Given the description of an element on the screen output the (x, y) to click on. 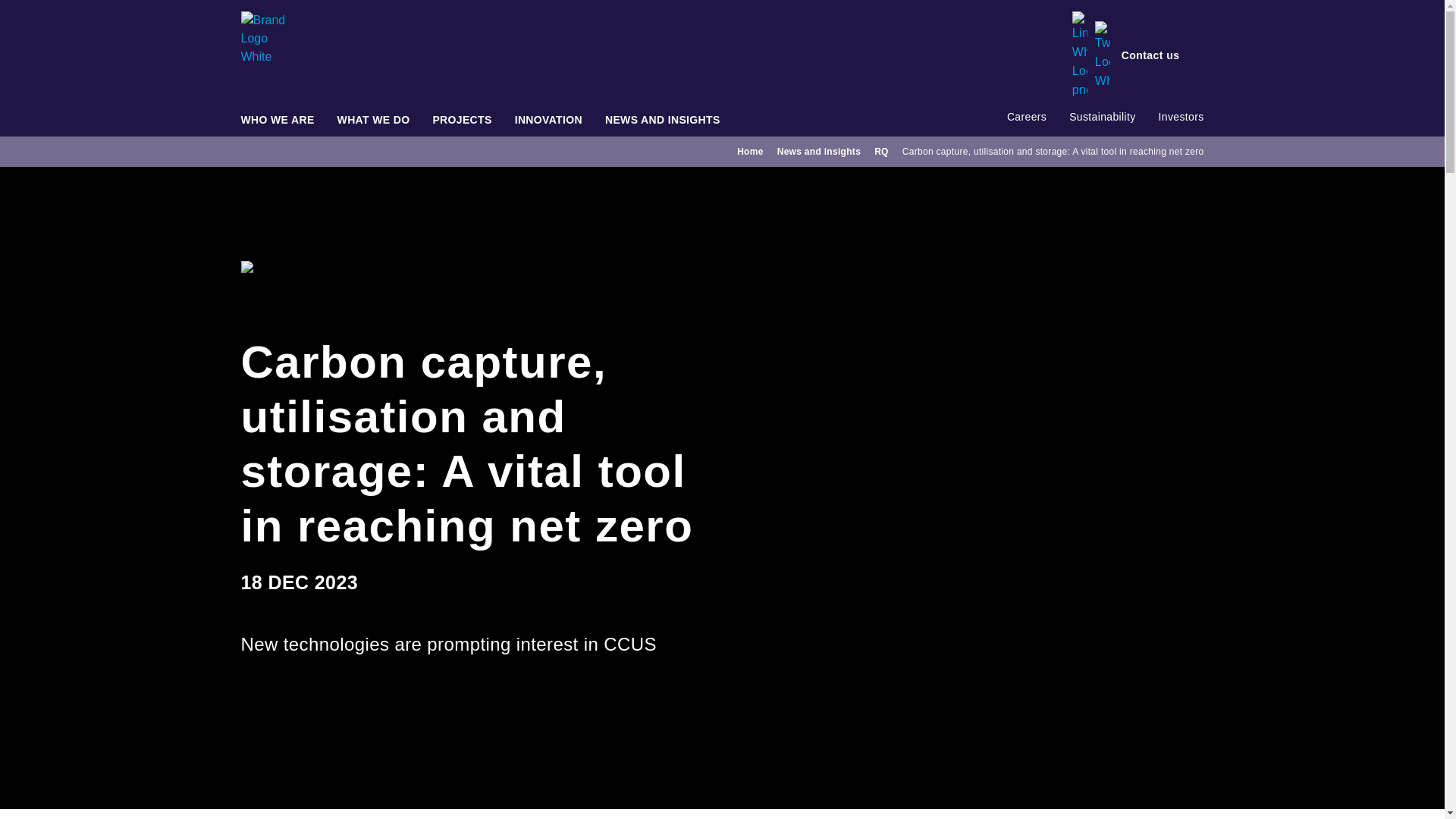
WHAT WE DO (373, 123)
Contact us (1162, 55)
WHO WE ARE (277, 123)
